Given the description of an element on the screen output the (x, y) to click on. 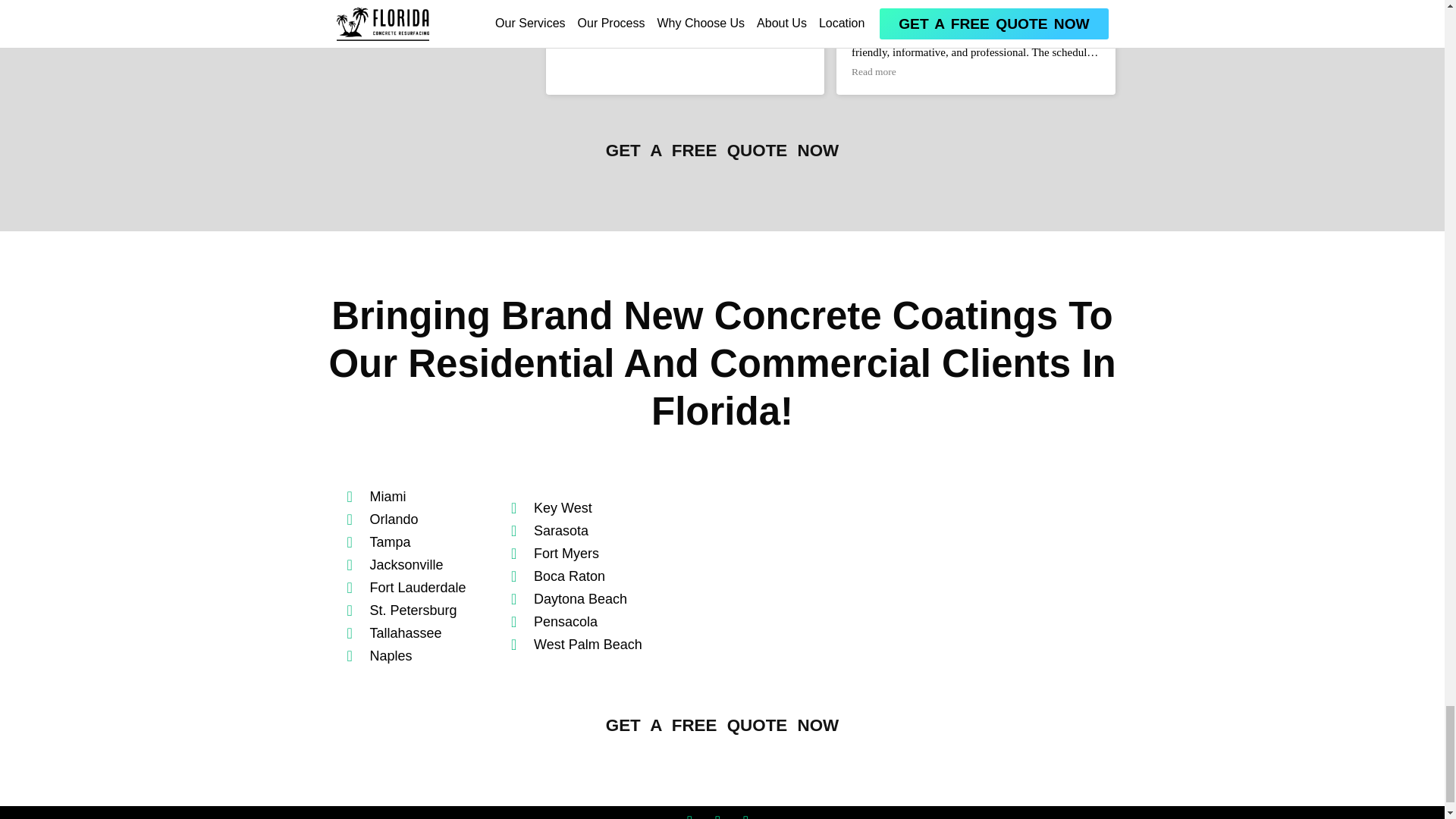
GET A FREE QUOTE NOW (722, 725)
GET A FREE QUOTE NOW (722, 150)
florida (886, 576)
